Given the description of an element on the screen output the (x, y) to click on. 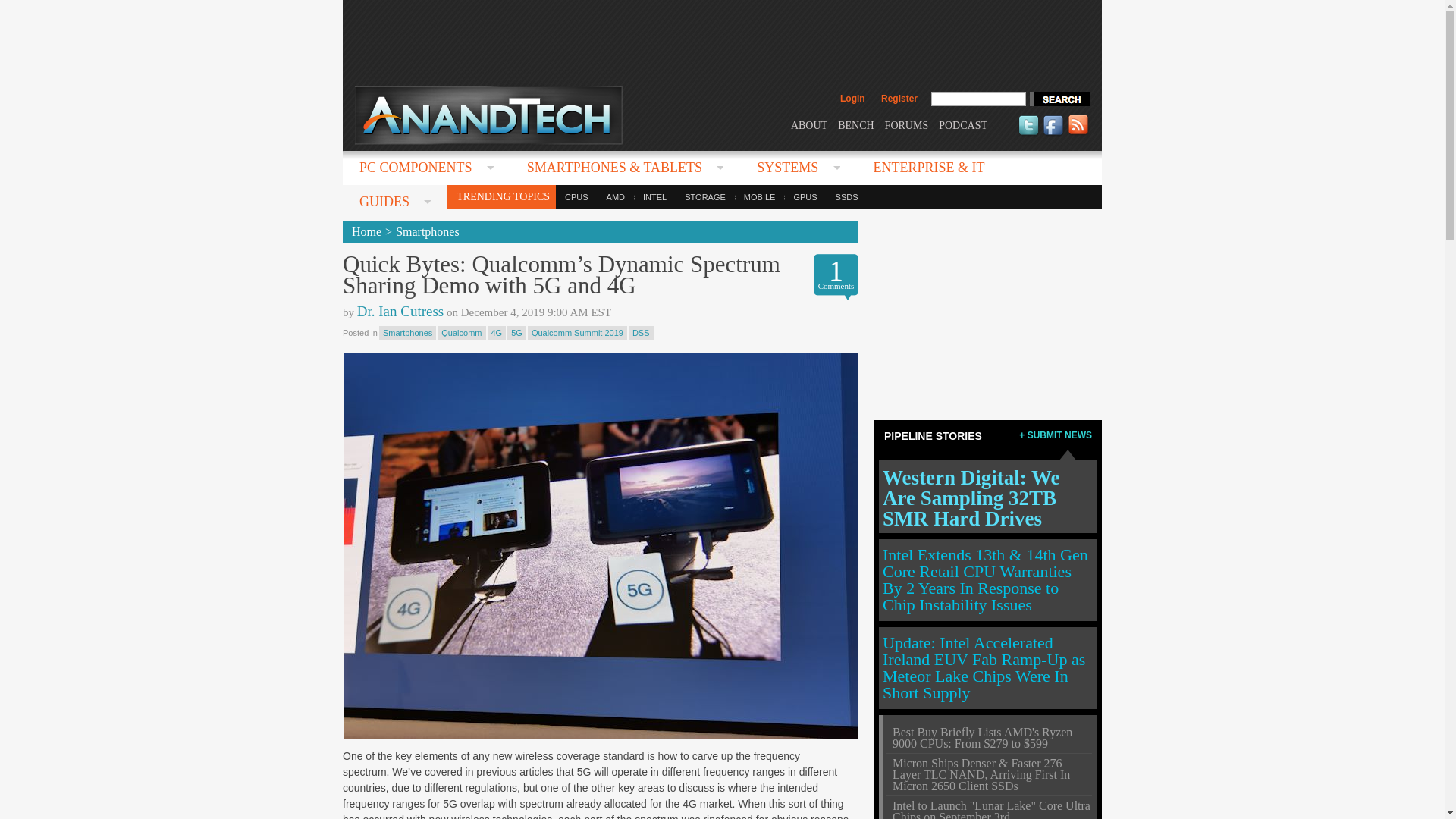
search (1059, 98)
search (1059, 98)
BENCH (855, 125)
FORUMS (906, 125)
PODCAST (963, 125)
search (1059, 98)
Login (852, 98)
ABOUT (808, 125)
Register (898, 98)
